Given the description of an element on the screen output the (x, y) to click on. 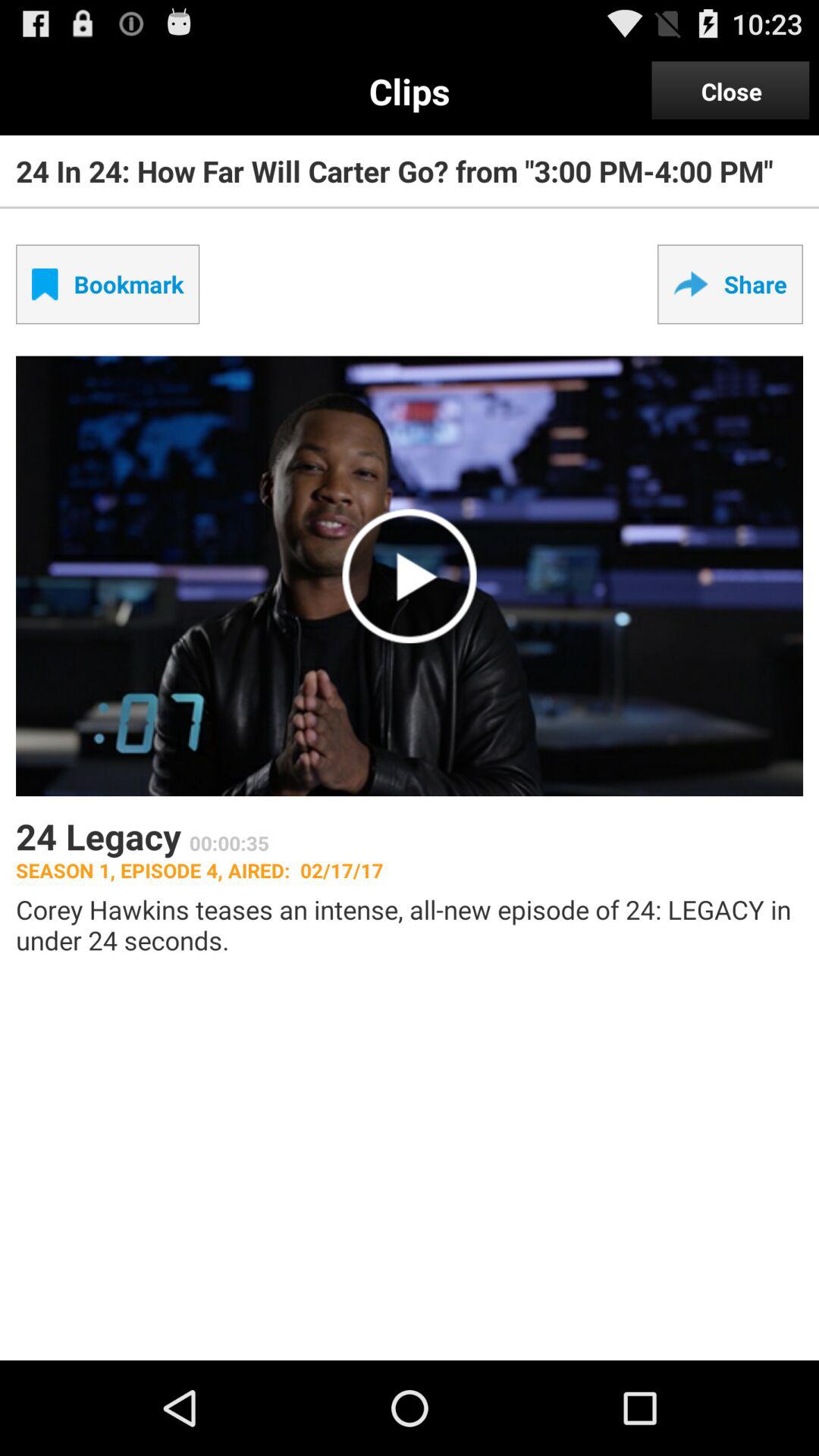
flip to the bookmark (107, 284)
